Given the description of an element on the screen output the (x, y) to click on. 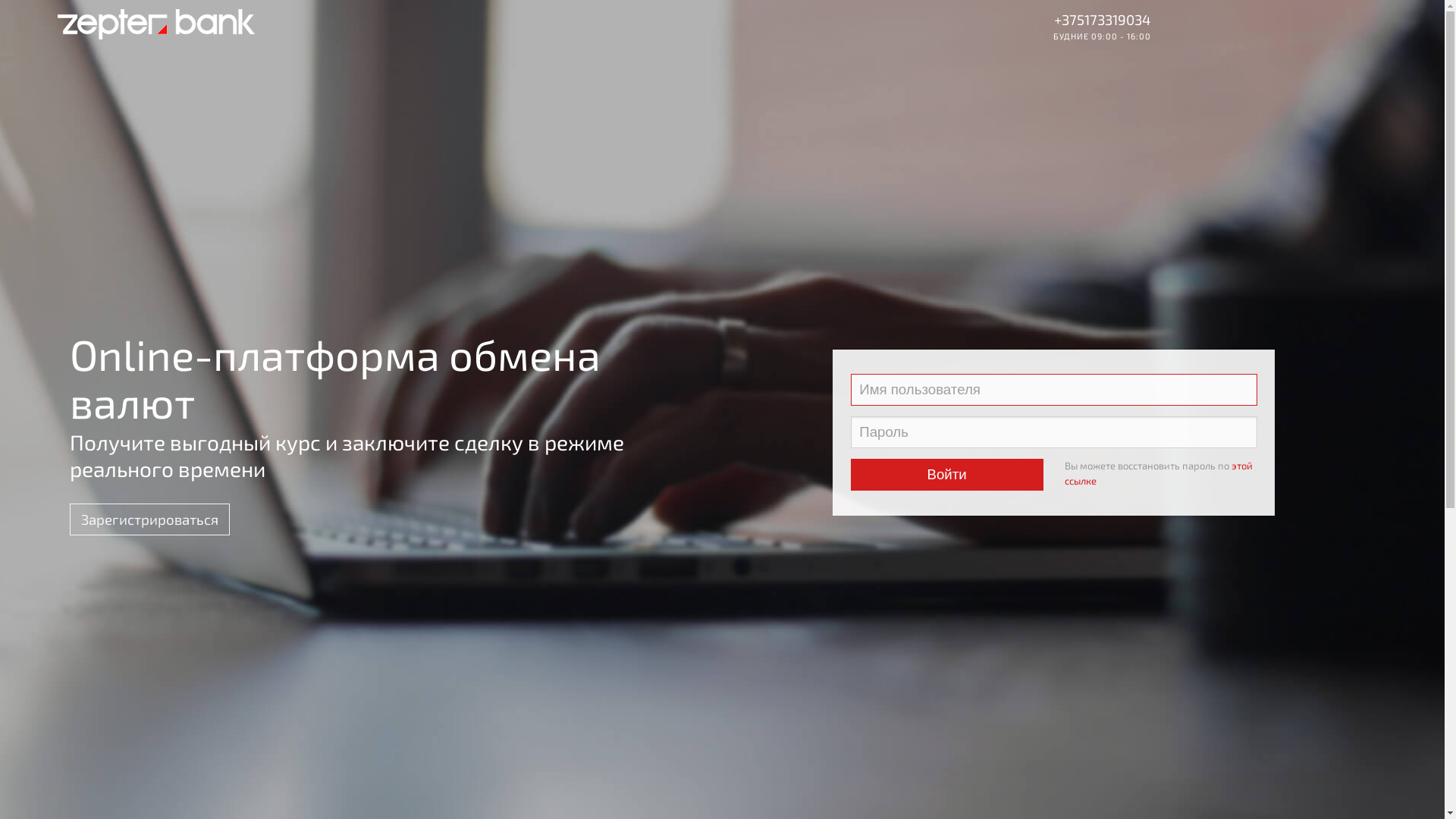
+375173319034 Element type: text (1102, 19)
